Given the description of an element on the screen output the (x, y) to click on. 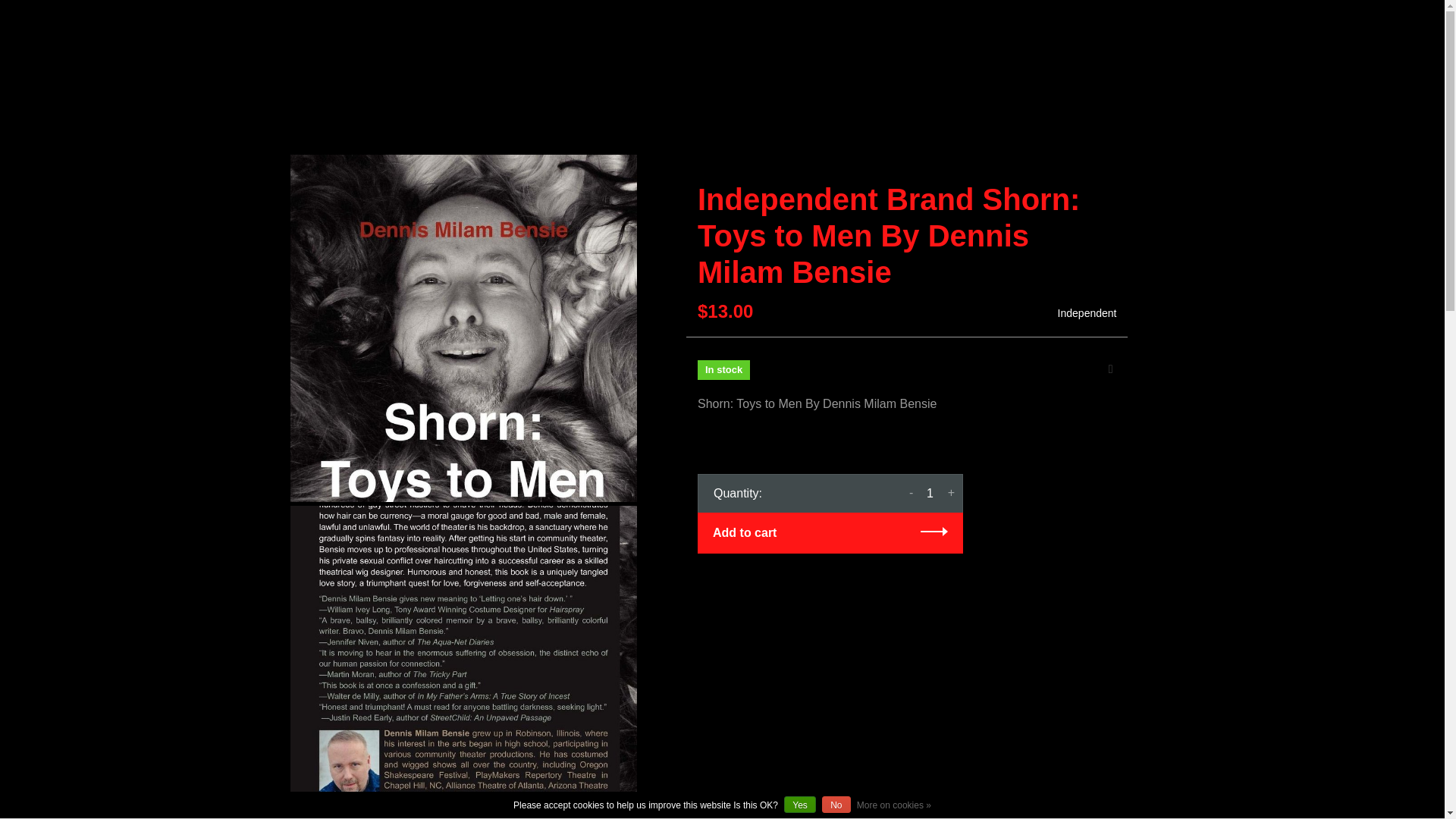
1 (929, 492)
